Given the description of an element on the screen output the (x, y) to click on. 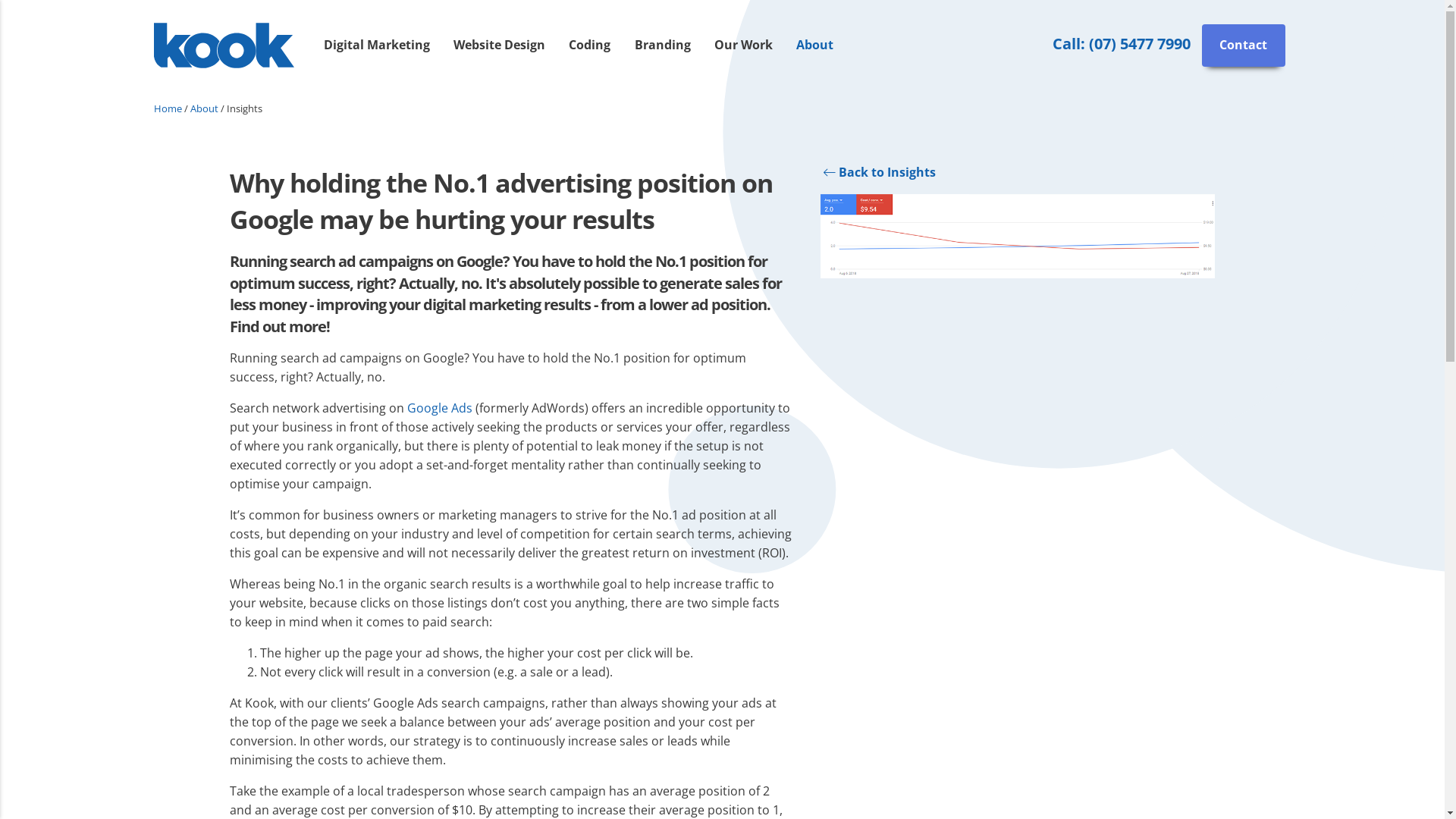
Branding Element type: text (662, 45)
About Element type: text (203, 108)
About Element type: text (814, 45)
Contact Element type: text (1243, 45)
Digital Marketing Element type: text (376, 45)
Home Element type: text (167, 108)
Google Ads Element type: text (438, 407)
Coding Element type: text (589, 45)
Our Work Element type: text (743, 45)
Call: (07) 5477 7990 Element type: text (1121, 43)
Back to Insights Element type: text (877, 171)
Website Design Element type: text (499, 45)
